Given the description of an element on the screen output the (x, y) to click on. 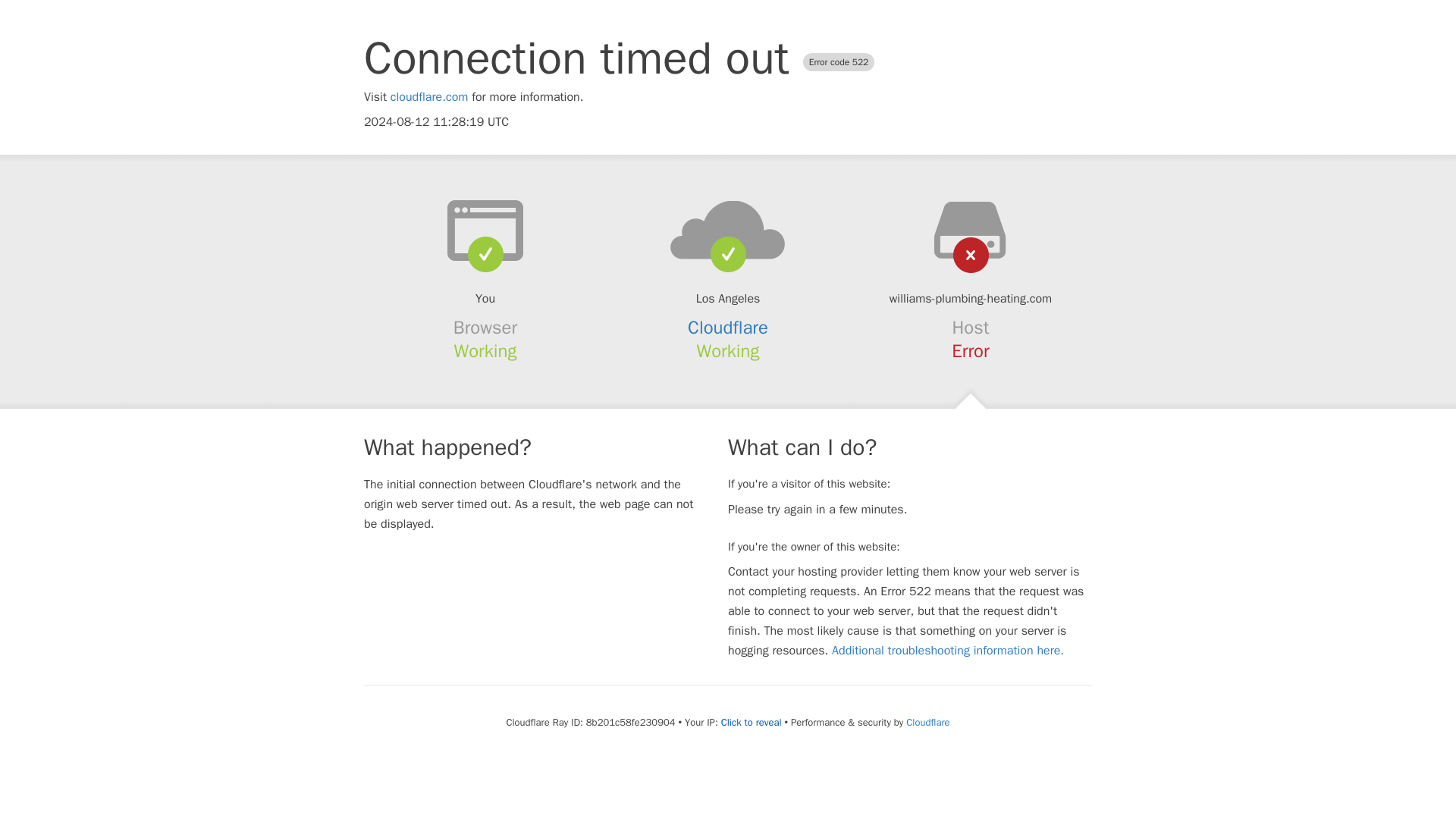
cloudflare.com (429, 96)
Cloudflare (727, 327)
Click to reveal (750, 722)
Additional troubleshooting information here. (947, 650)
Cloudflare (927, 721)
